Given the description of an element on the screen output the (x, y) to click on. 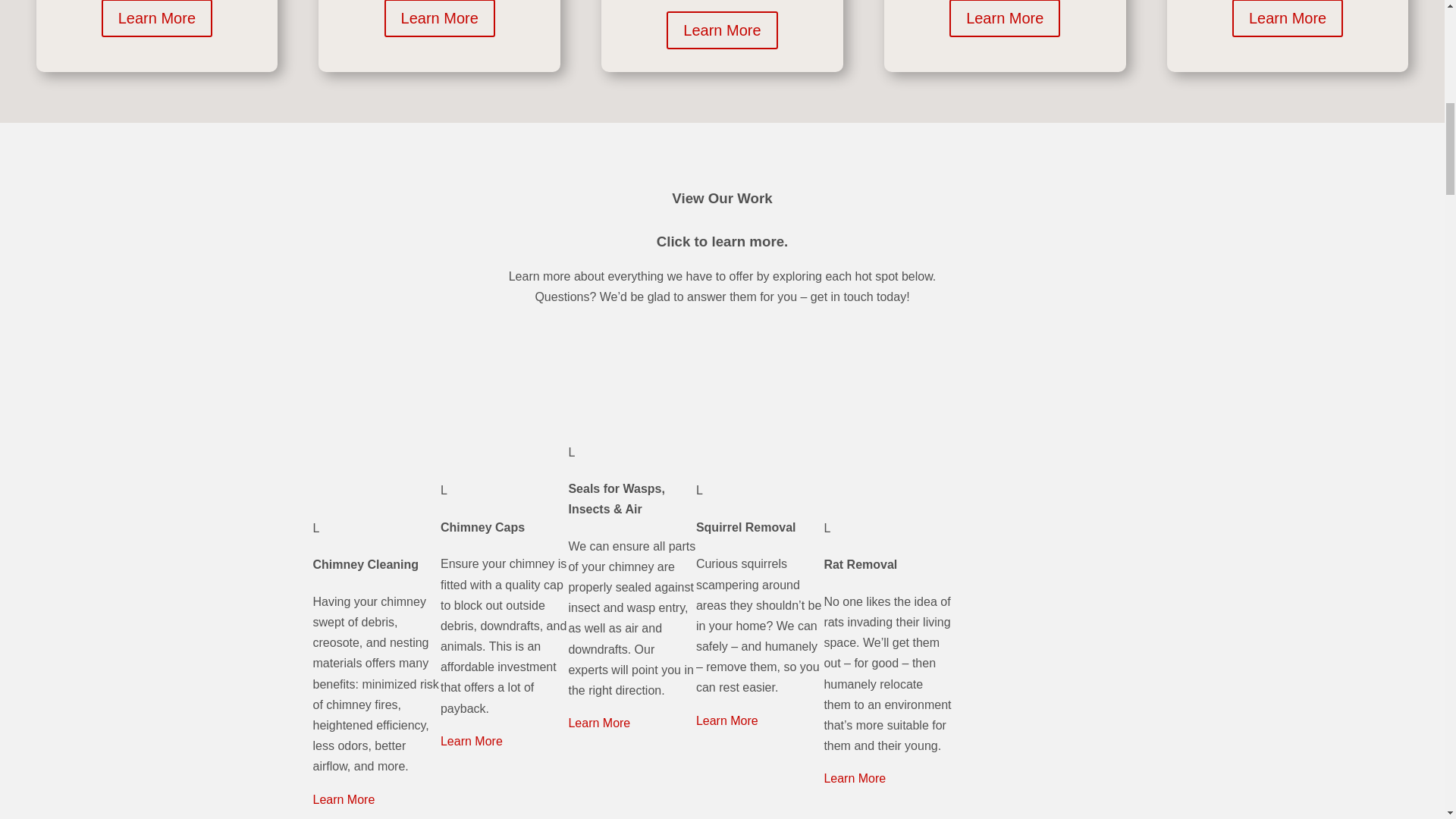
Coopertown Homepage Bird Removal Image-1 (887, 815)
Coopertown Chimney Repairs (504, 796)
Coopertown Chimney Caps (504, 411)
